Given the description of an element on the screen output the (x, y) to click on. 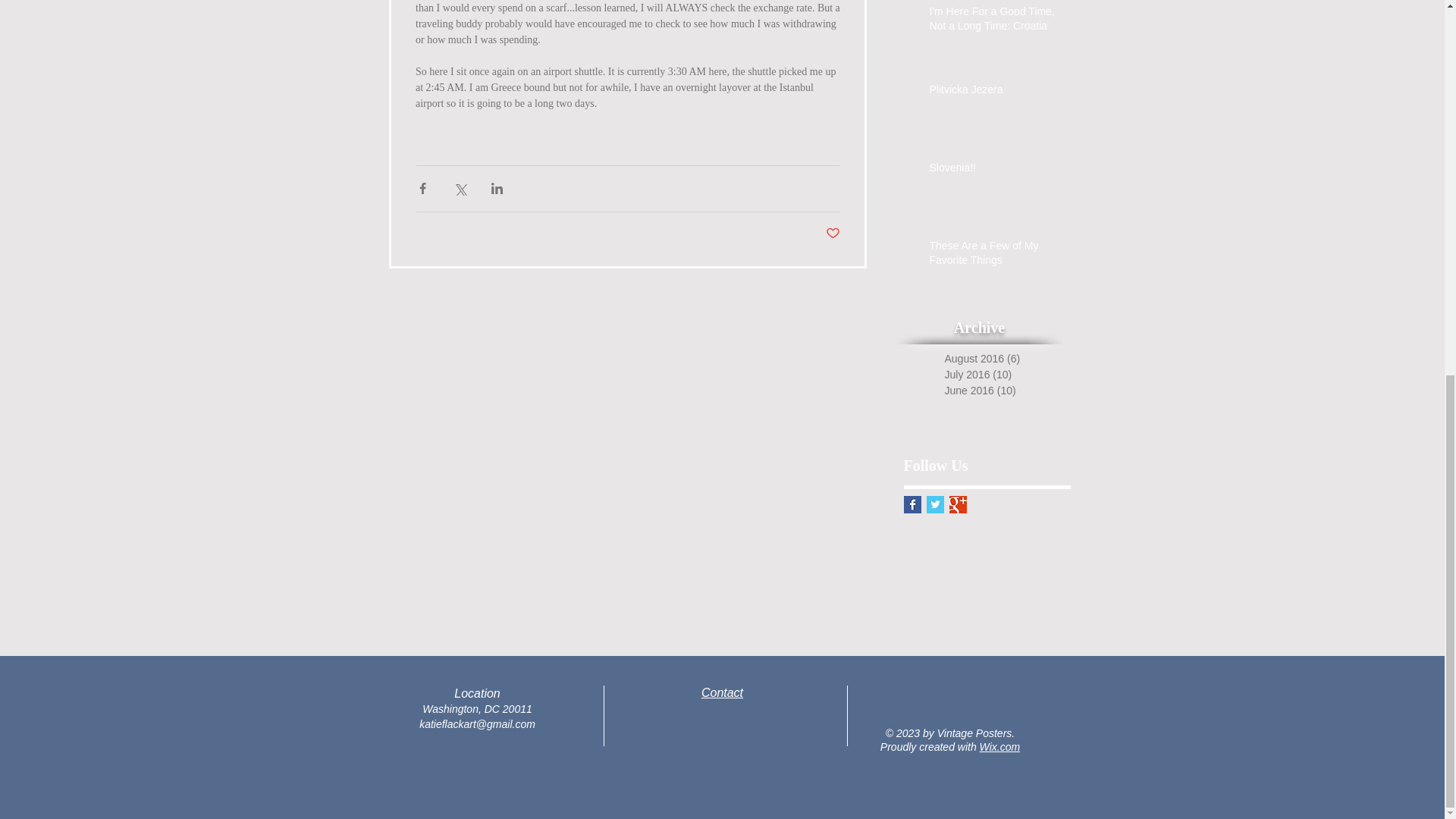
Wix.com (999, 746)
Plitvicka Jezera (998, 93)
Post not marked as liked (832, 233)
Facebook Like (722, 783)
These Are a Few of My Favorite Things (998, 256)
Slovenia!! (998, 170)
I'm Here For a Good Time, Not a Long Time: Croatia (998, 22)
